Given the description of an element on the screen output the (x, y) to click on. 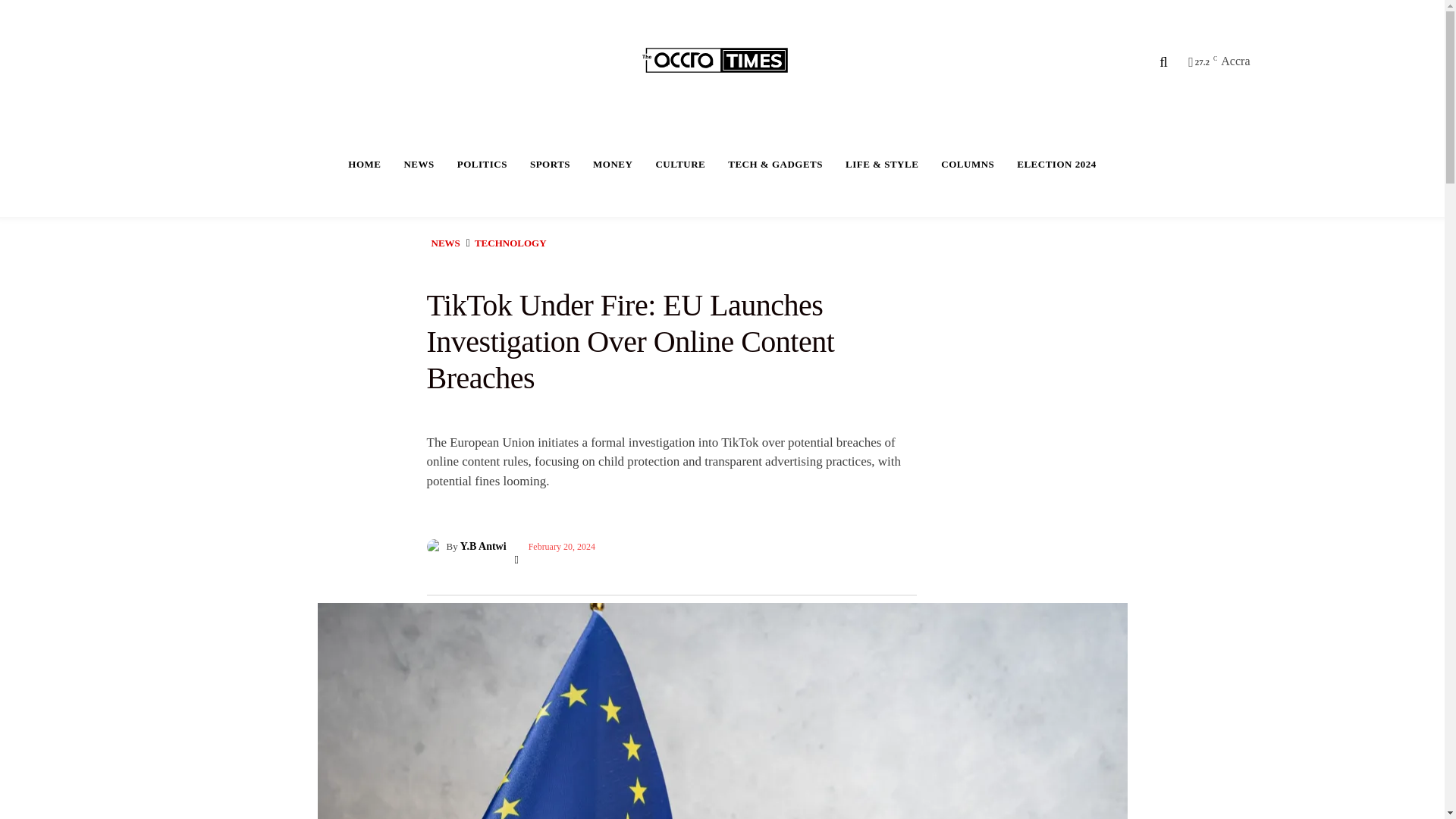
NEWS (418, 164)
Y.B Antwi (435, 546)
HOME (364, 164)
Breaking news from Ghana and around the world (724, 60)
